Given the description of an element on the screen output the (x, y) to click on. 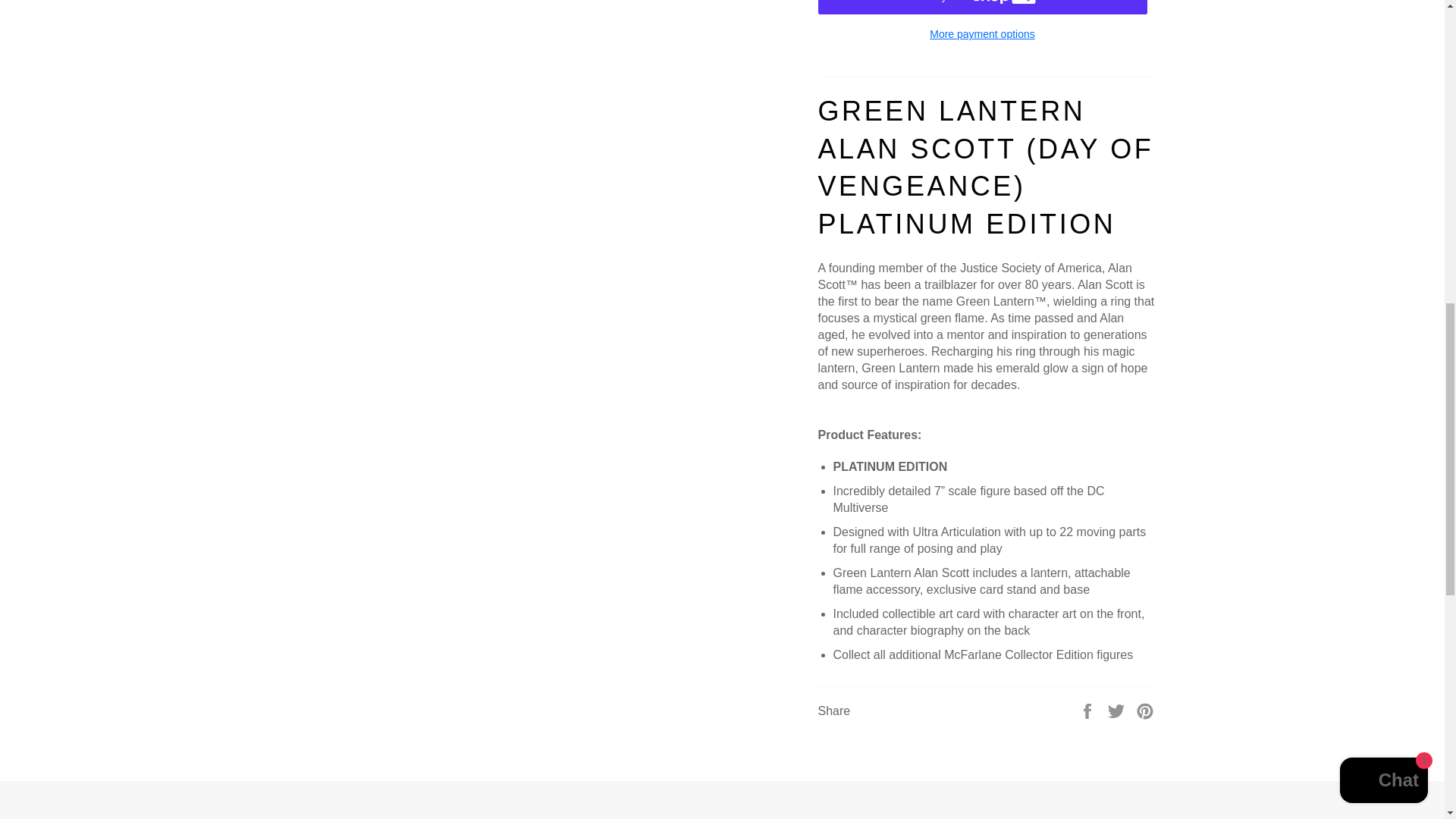
Tweet on Twitter (1117, 709)
Pin on Pinterest (1144, 709)
Share on Facebook (1088, 709)
